Given the description of an element on the screen output the (x, y) to click on. 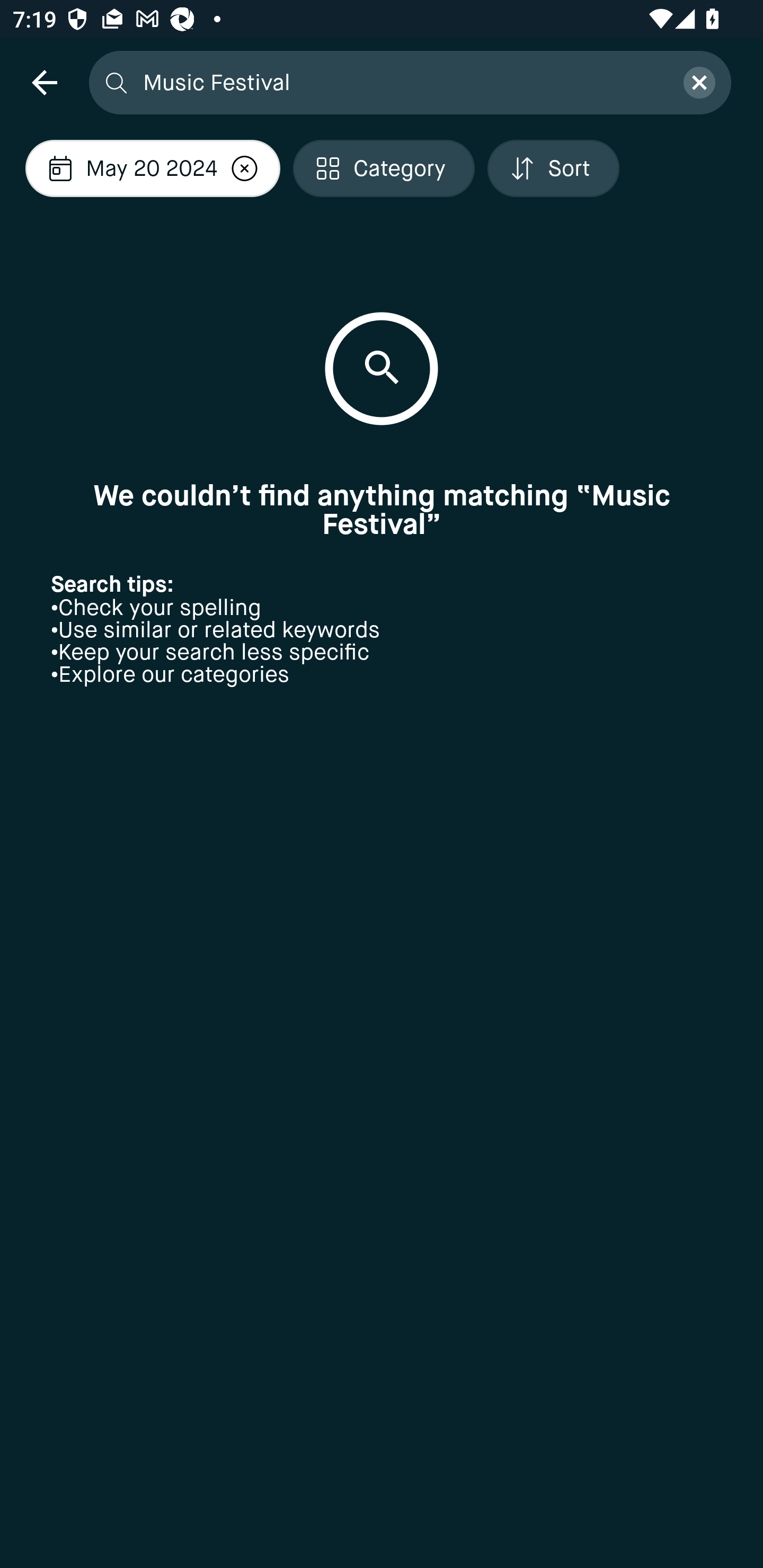
navigation icon (44, 81)
Music Festival (402, 81)
Localized description (244, 168)
Localized description Category (383, 168)
Localized description Sort (553, 168)
